Given the description of an element on the screen output the (x, y) to click on. 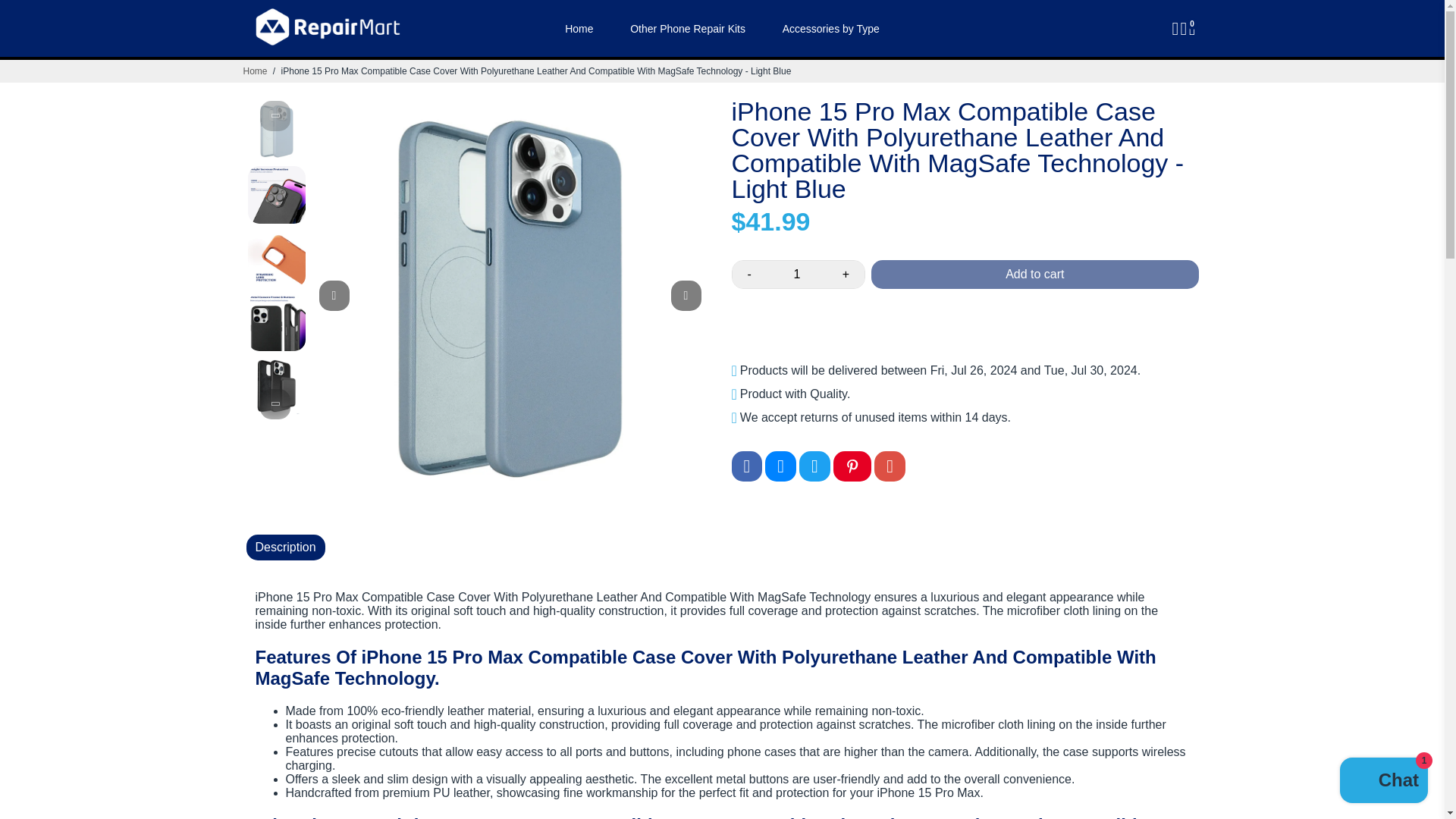
Home (254, 71)
Add to cart (1034, 274)
Shopify online store chat (1383, 781)
Accessories by Type (831, 28)
- (749, 274)
Home (254, 71)
Other Phone Repair Kits (687, 28)
1 (797, 274)
Home (579, 28)
